Given the description of an element on the screen output the (x, y) to click on. 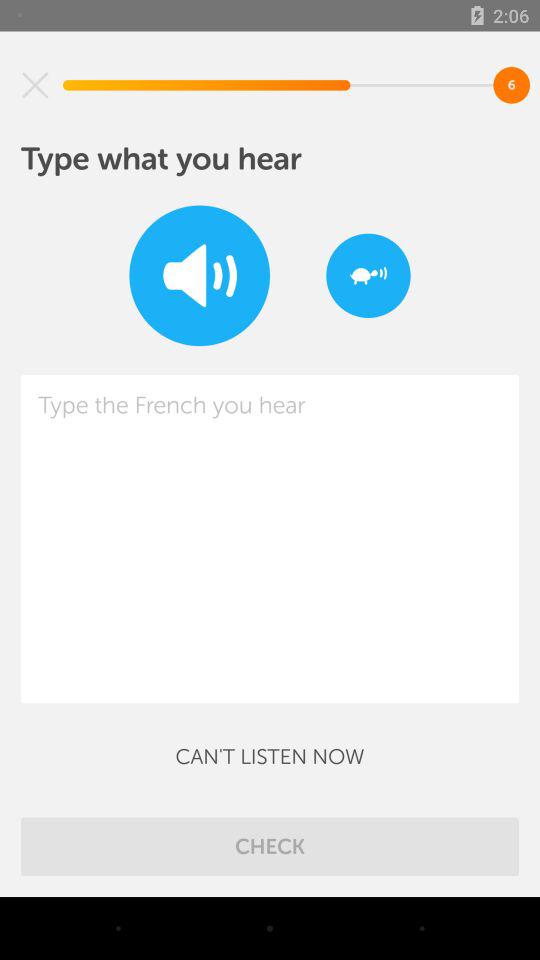
tap check icon (270, 846)
